Given the description of an element on the screen output the (x, y) to click on. 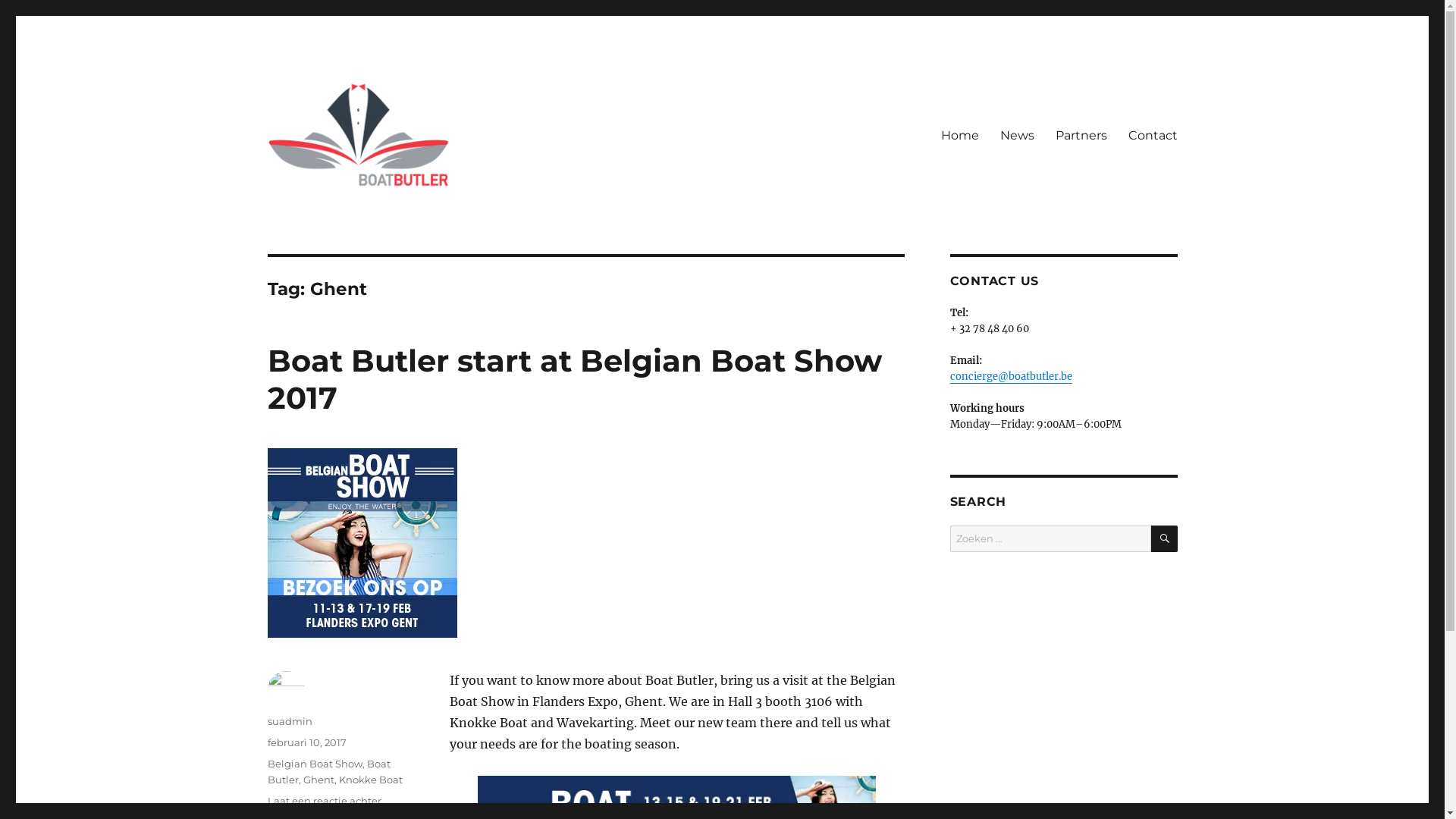
Laat een reactie achter Element type: text (323, 800)
Boat Butler Element type: text (329, 213)
Boat Butler start at Belgian Boat Show 2017 Element type: text (573, 379)
Ghent Element type: text (318, 779)
Home Element type: text (958, 134)
Boat Butler Element type: text (327, 771)
suadmin Element type: text (288, 721)
News Element type: text (1016, 134)
Contact Element type: text (1152, 134)
Knokke Boat Element type: text (369, 779)
Belgian Boat Show Element type: text (313, 763)
februari 10, 2017 Element type: text (305, 742)
Partners Element type: text (1080, 134)
concierge@boatbutler.be Element type: text (1010, 376)
